Given the description of an element on the screen output the (x, y) to click on. 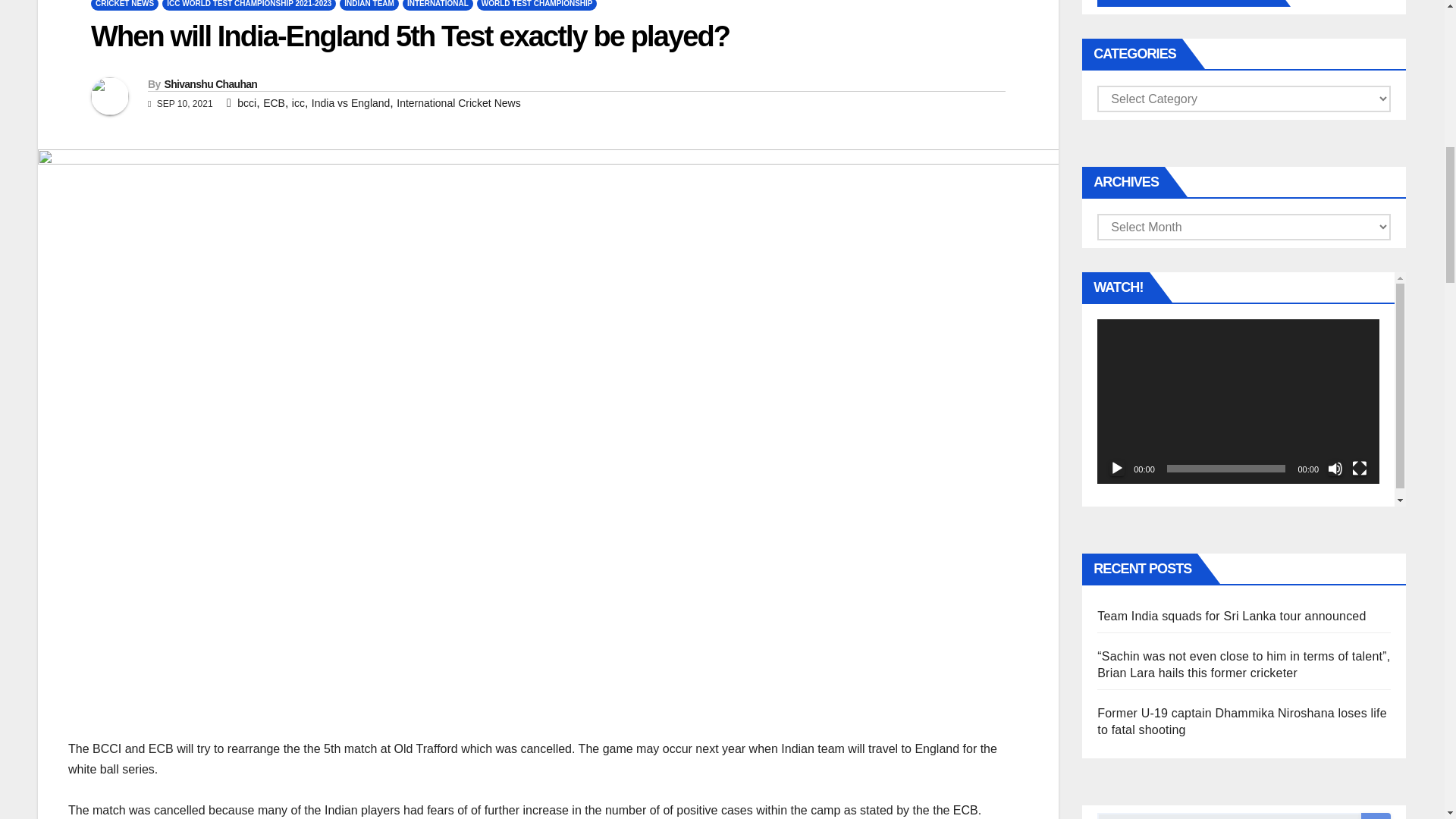
WORLD TEST CHAMPIONSHIP (536, 5)
icc (298, 102)
Shivanshu Chauhan (210, 83)
When will India-England 5th Test exactly be played? (409, 36)
CRICKET NEWS (124, 5)
INTERNATIONAL (438, 5)
ECB (274, 102)
India vs England (350, 102)
ICC WORLD TEST CHAMPIONSHIP 2021-2023 (248, 5)
bcci (246, 102)
INDIAN TEAM (368, 5)
International Cricket News (457, 102)
